Given the description of an element on the screen output the (x, y) to click on. 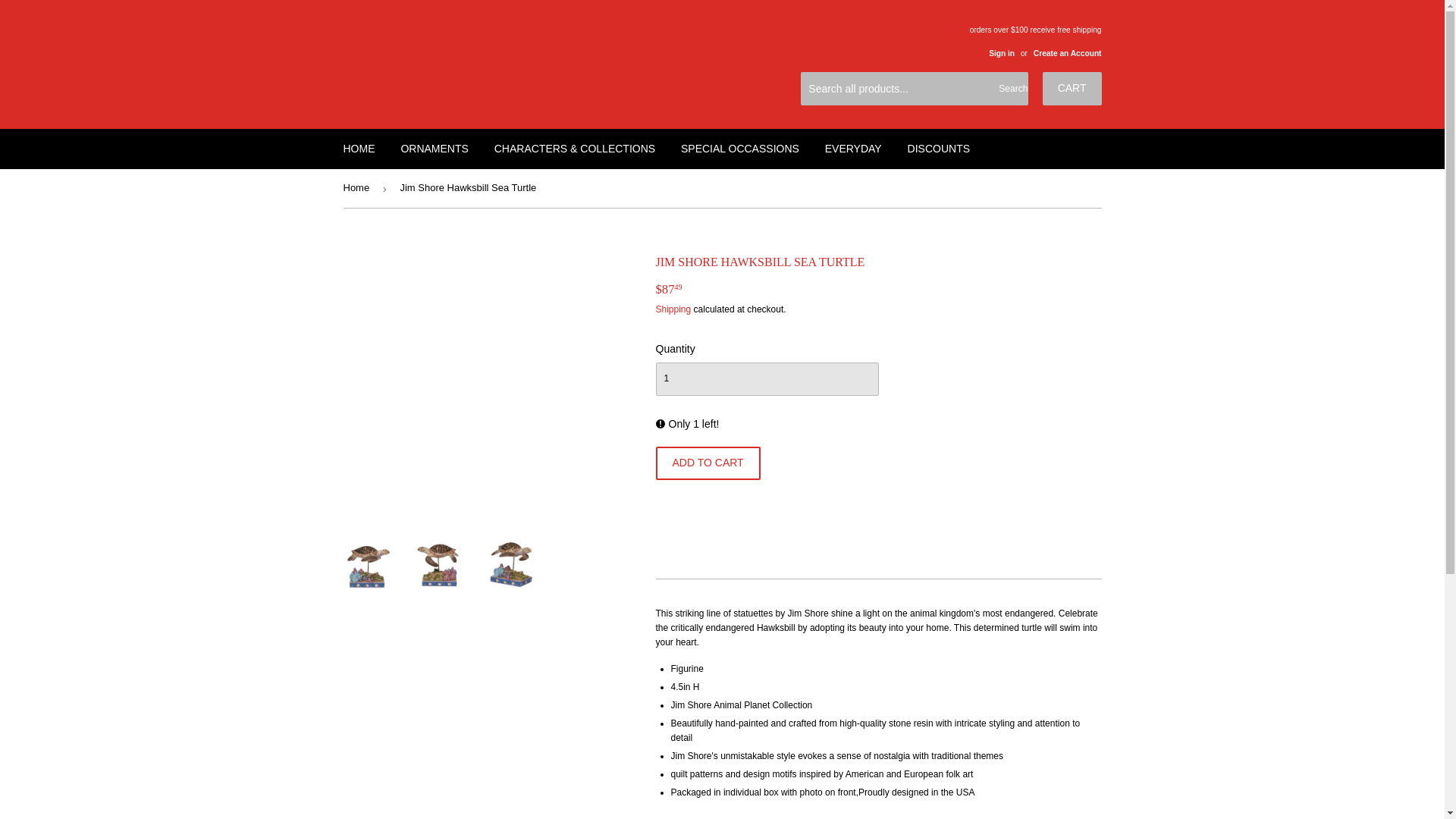
Sign in (1001, 53)
Create an Account (1067, 53)
CART (1072, 87)
Search (1010, 88)
1 (766, 378)
